Given the description of an element on the screen output the (x, y) to click on. 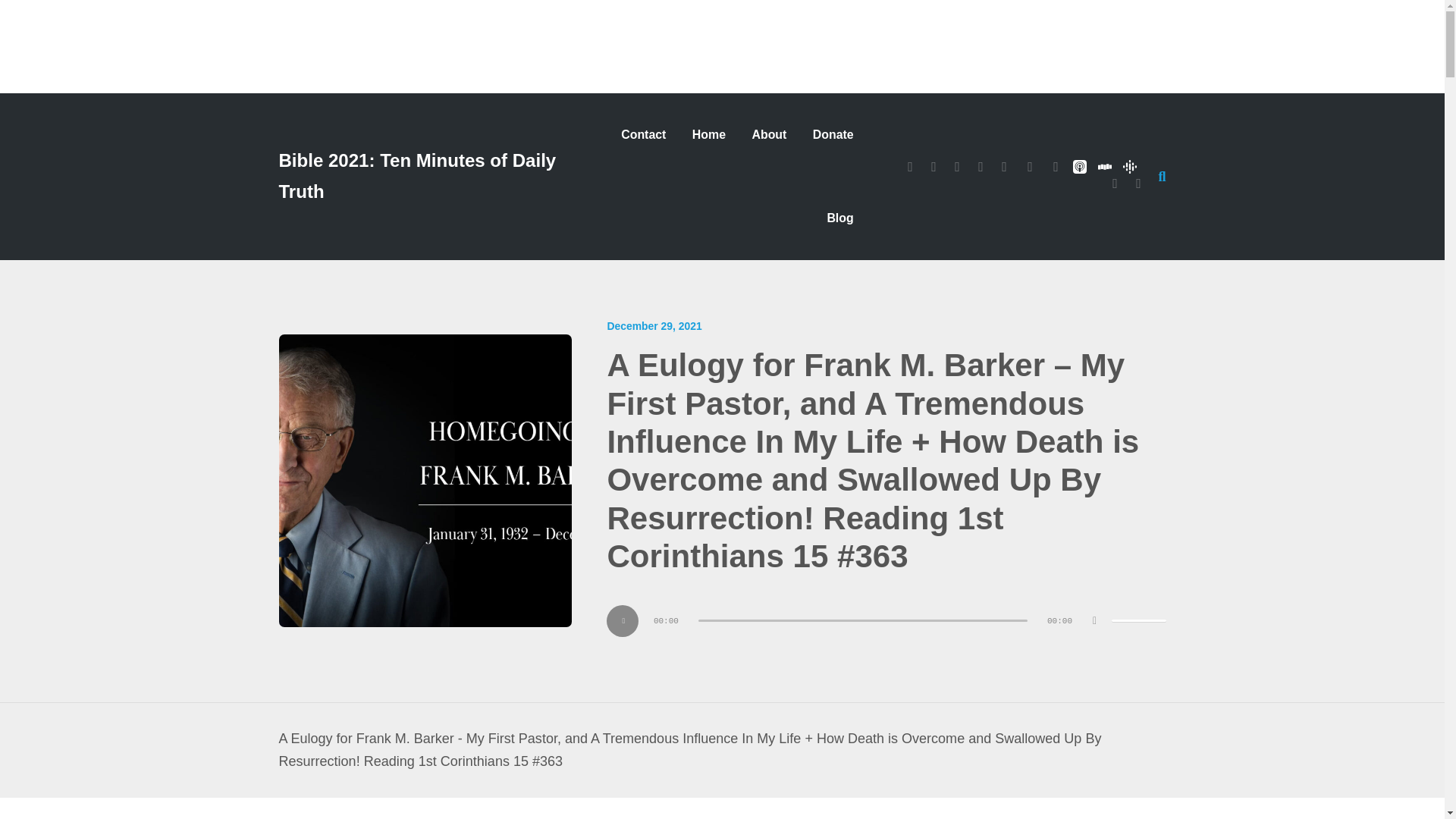
Bible 2021: Ten Minutes of Daily Truth (429, 176)
Play (623, 621)
Bible 2021:  Ten Minutes of Daily Truth (429, 176)
